Given the description of an element on the screen output the (x, y) to click on. 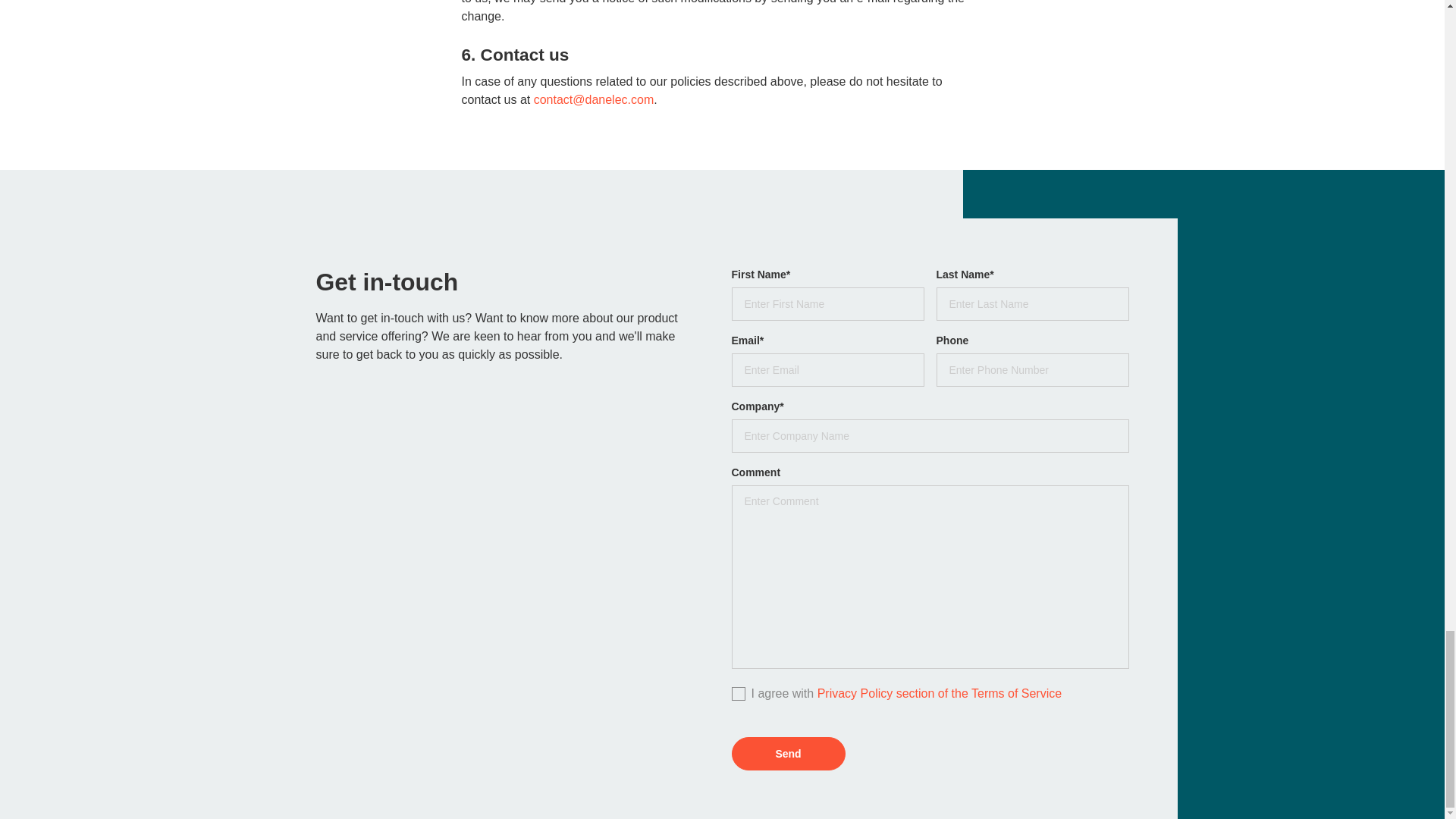
Terms and Conditions (939, 693)
1 (735, 691)
